Given the description of an element on the screen output the (x, y) to click on. 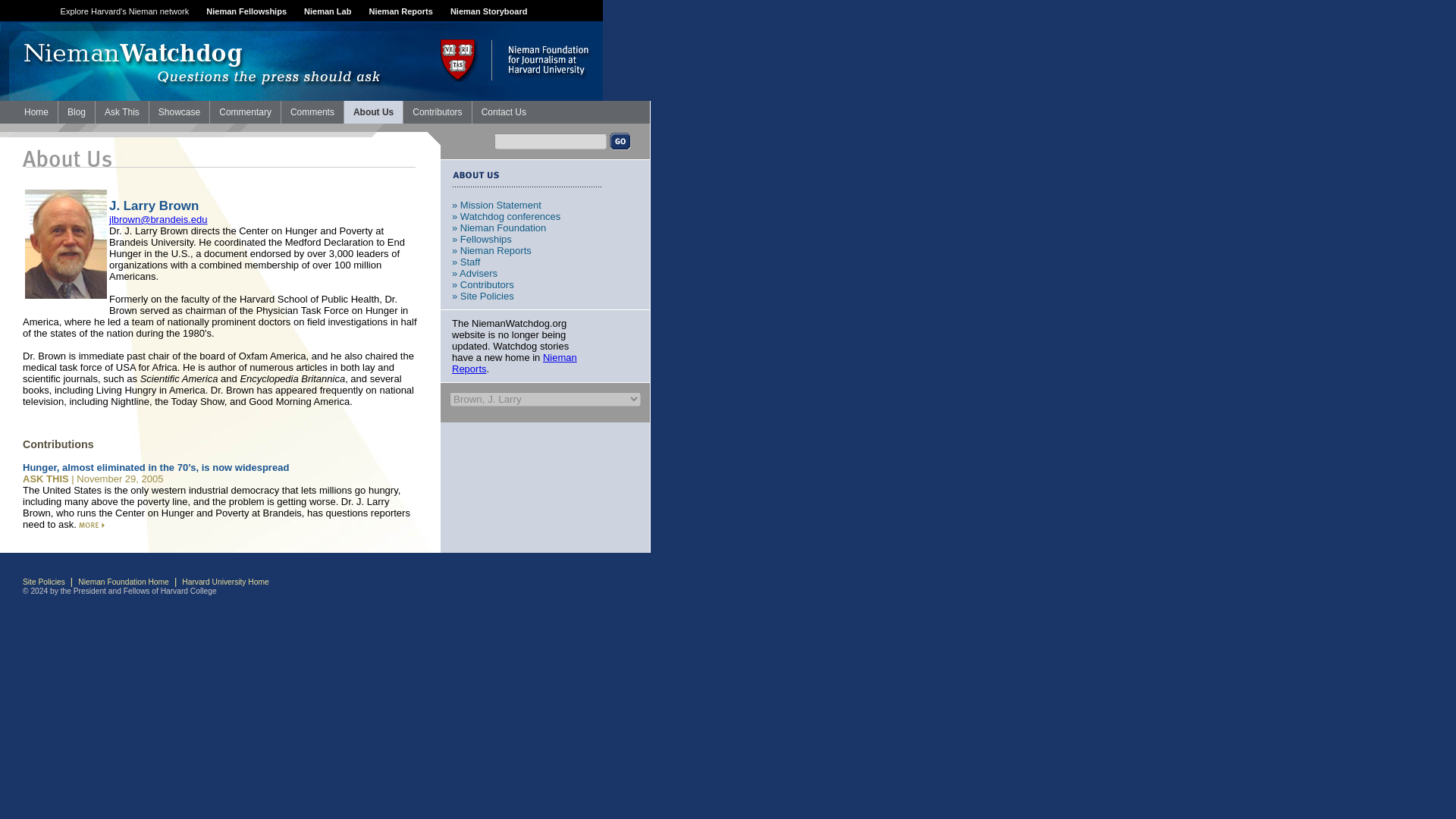
About Us (373, 112)
Nieman Lab (327, 10)
Nieman Reports (400, 10)
Commentary (245, 112)
Nieman Fellowships (246, 10)
Explore Harvard's Nieman network (125, 10)
Showcase (179, 112)
Contact Us (503, 112)
Nieman Storyboard (488, 10)
Harvard University Home (224, 582)
Contributors (436, 112)
Comments (312, 112)
Nieman Foundation Home (123, 582)
Home (36, 112)
Blog (76, 112)
